Given the description of an element on the screen output the (x, y) to click on. 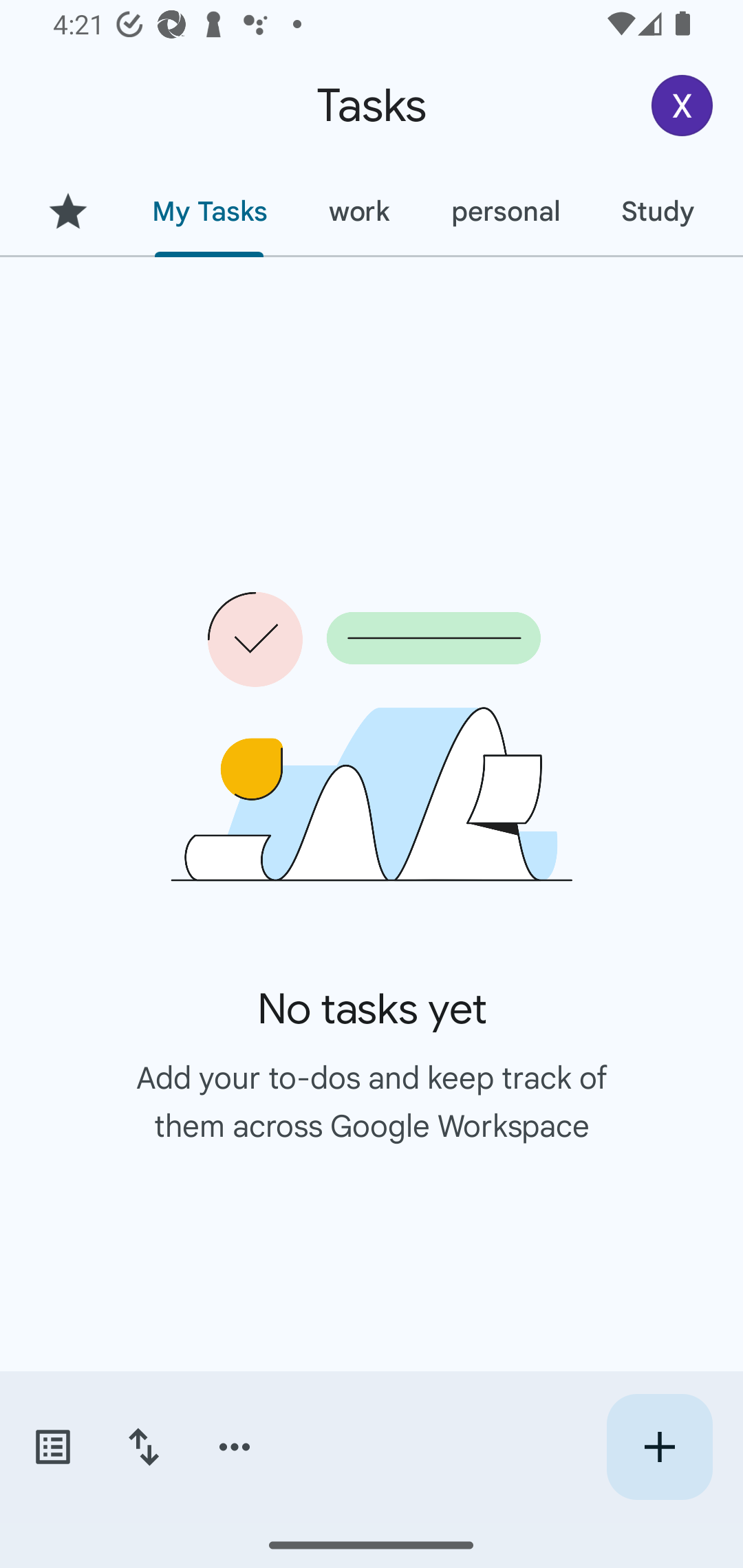
Starred (67, 211)
work (358, 211)
personal (504, 211)
Study (656, 211)
Switch task lists (52, 1447)
Create new task (659, 1446)
Change sort order (143, 1446)
More options (234, 1446)
